Given the description of an element on the screen output the (x, y) to click on. 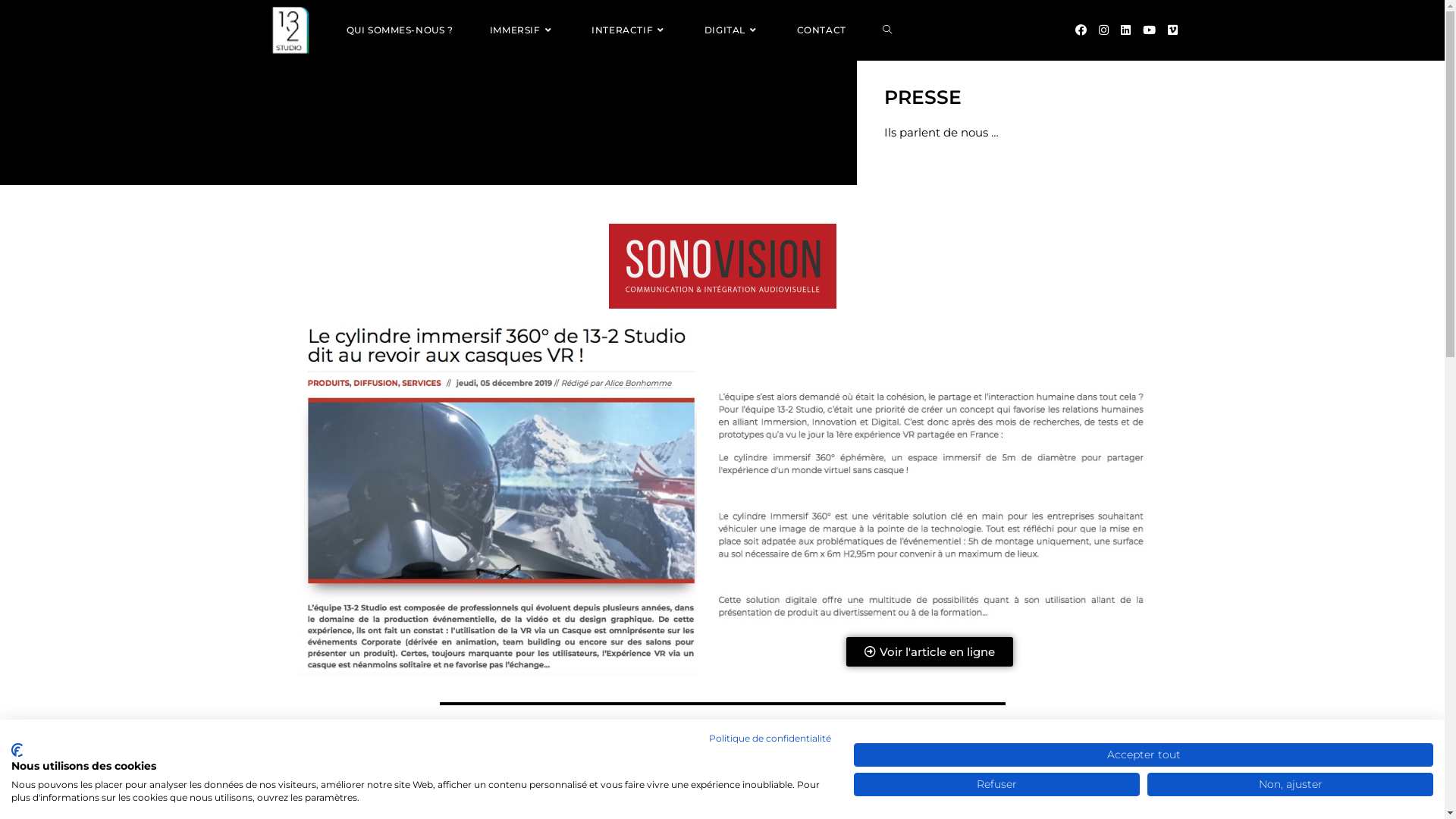
Accepter tout Element type: text (1143, 754)
DIGITAL Element type: text (732, 29)
Refuser Element type: text (996, 784)
QUI SOMMES-NOUS ? Element type: text (398, 29)
CONTACT Element type: text (821, 29)
INTERACTIF Element type: text (629, 29)
IMMERSIF Element type: text (522, 29)
Voir l'article en ligne Element type: text (929, 651)
Non, ajuster Element type: text (1290, 784)
